Given the description of an element on the screen output the (x, y) to click on. 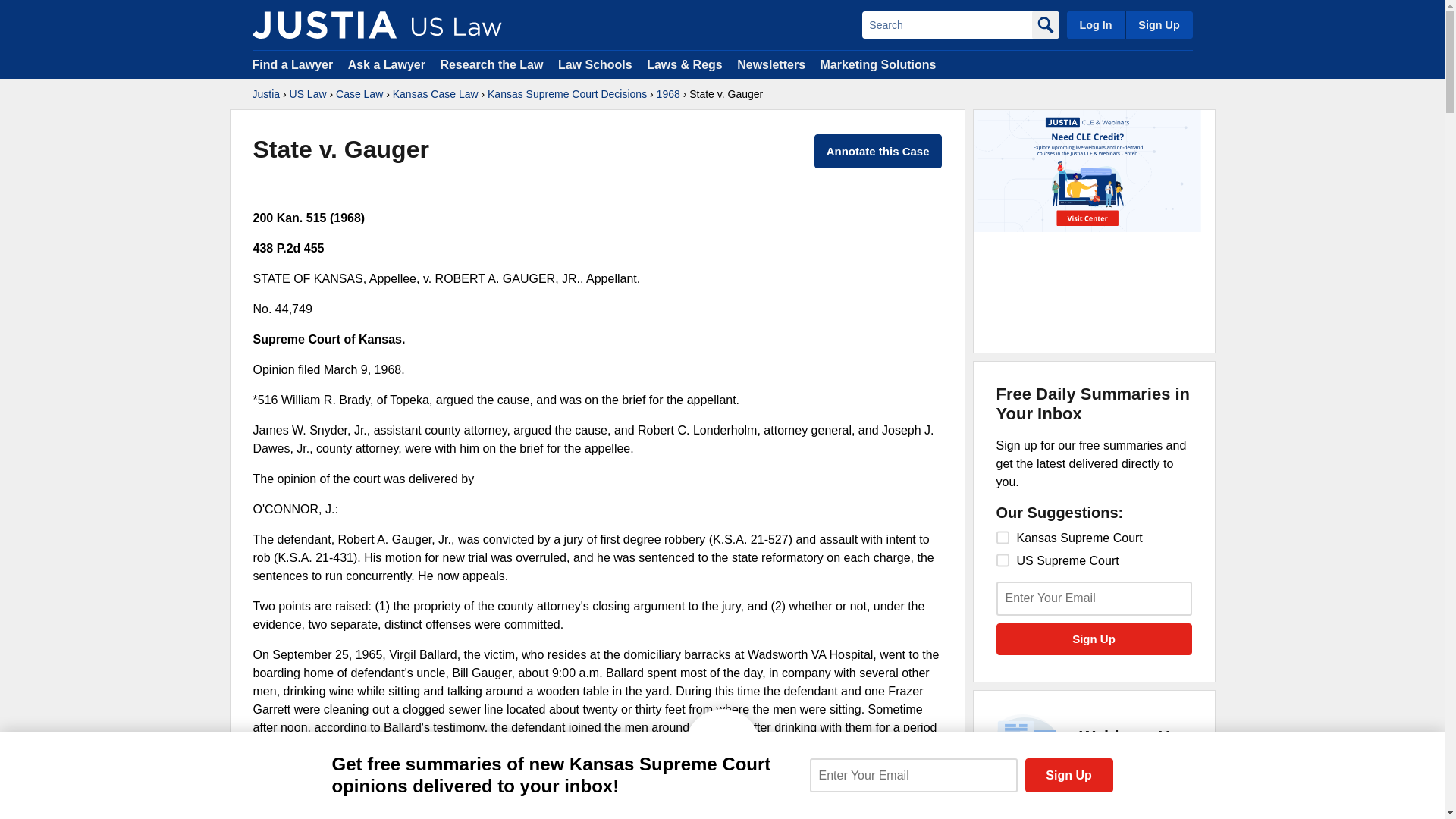
Research the Law (491, 64)
Search (945, 24)
Enter email (913, 775)
14 (1002, 559)
1968 (667, 93)
Kansas Supreme Court Decisions (566, 93)
Justia (323, 24)
Find a Lawyer (292, 64)
98 (1002, 536)
Justia (265, 93)
Annotate this Case (877, 151)
Enter email (1093, 598)
Newsletters (770, 64)
Case Law (359, 93)
Sign Up (1093, 639)
